Given the description of an element on the screen output the (x, y) to click on. 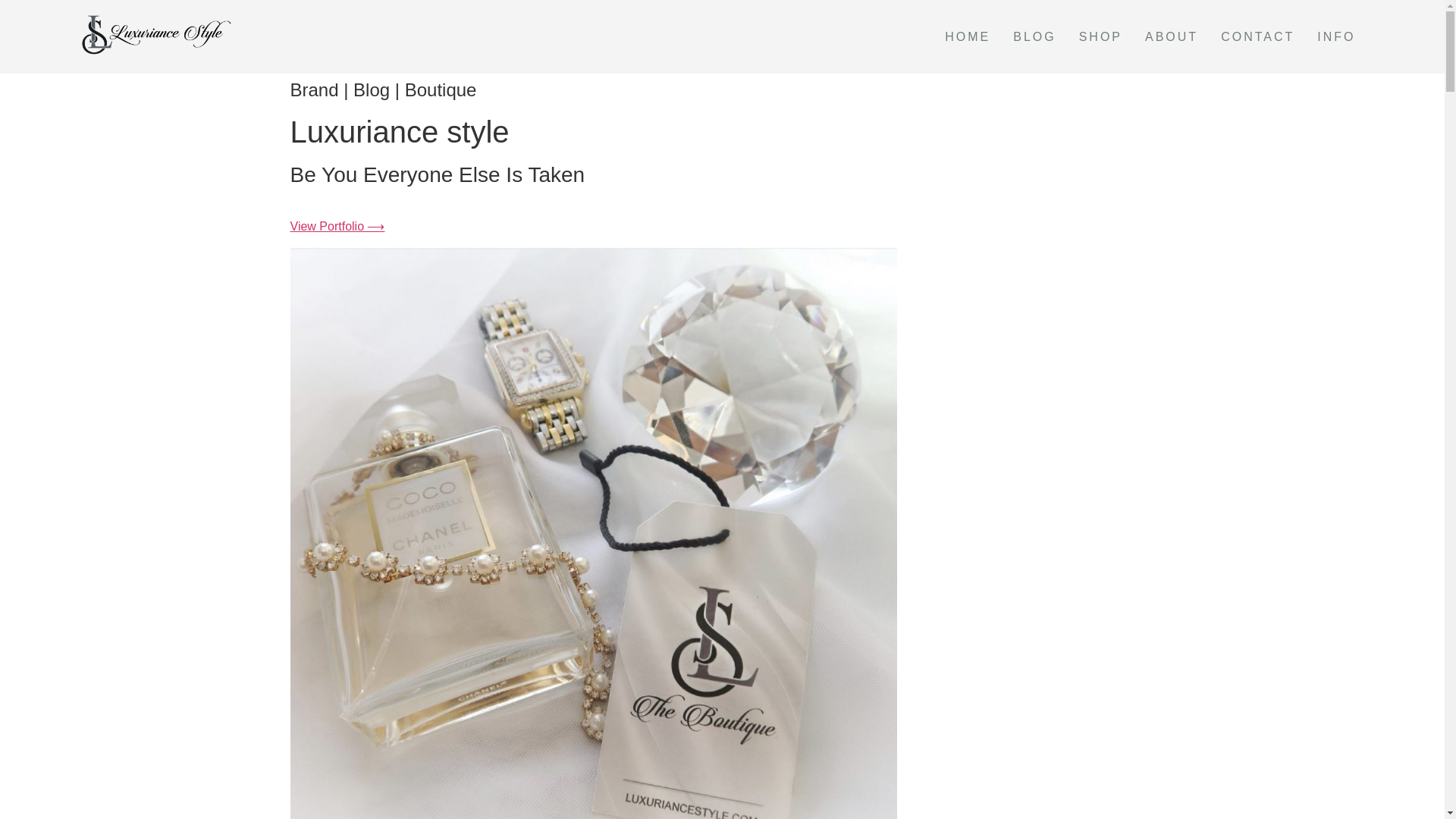
ABOUT (1171, 36)
SHOP (1100, 36)
BLOG (1034, 36)
INFO (1336, 36)
CONTACT (1257, 36)
HOME (967, 36)
